Given the description of an element on the screen output the (x, y) to click on. 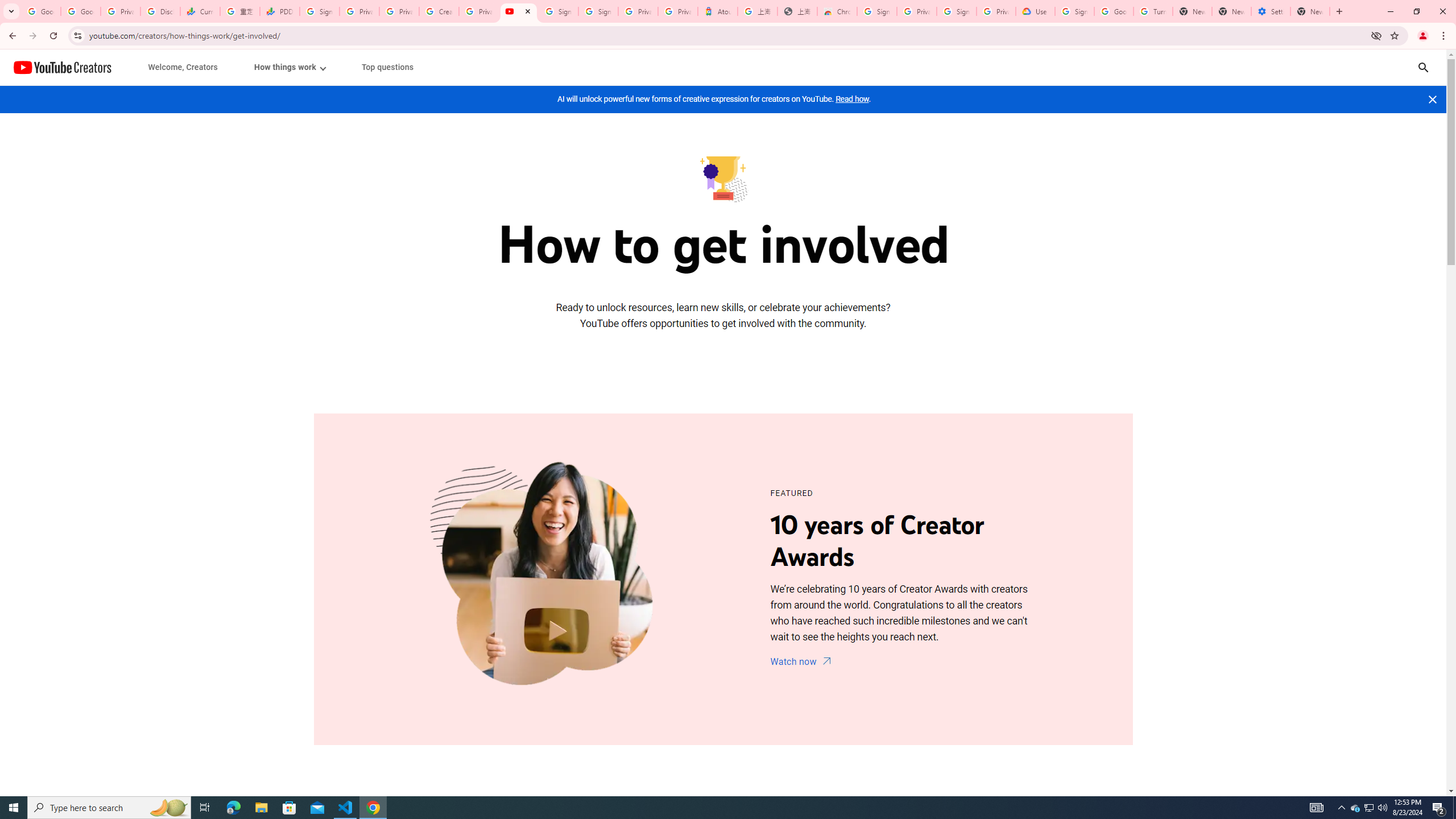
How to get involved (722, 177)
Sign in - Google Accounts (598, 11)
Read how (852, 99)
Welcome, Creators (183, 67)
